Given the description of an element on the screen output the (x, y) to click on. 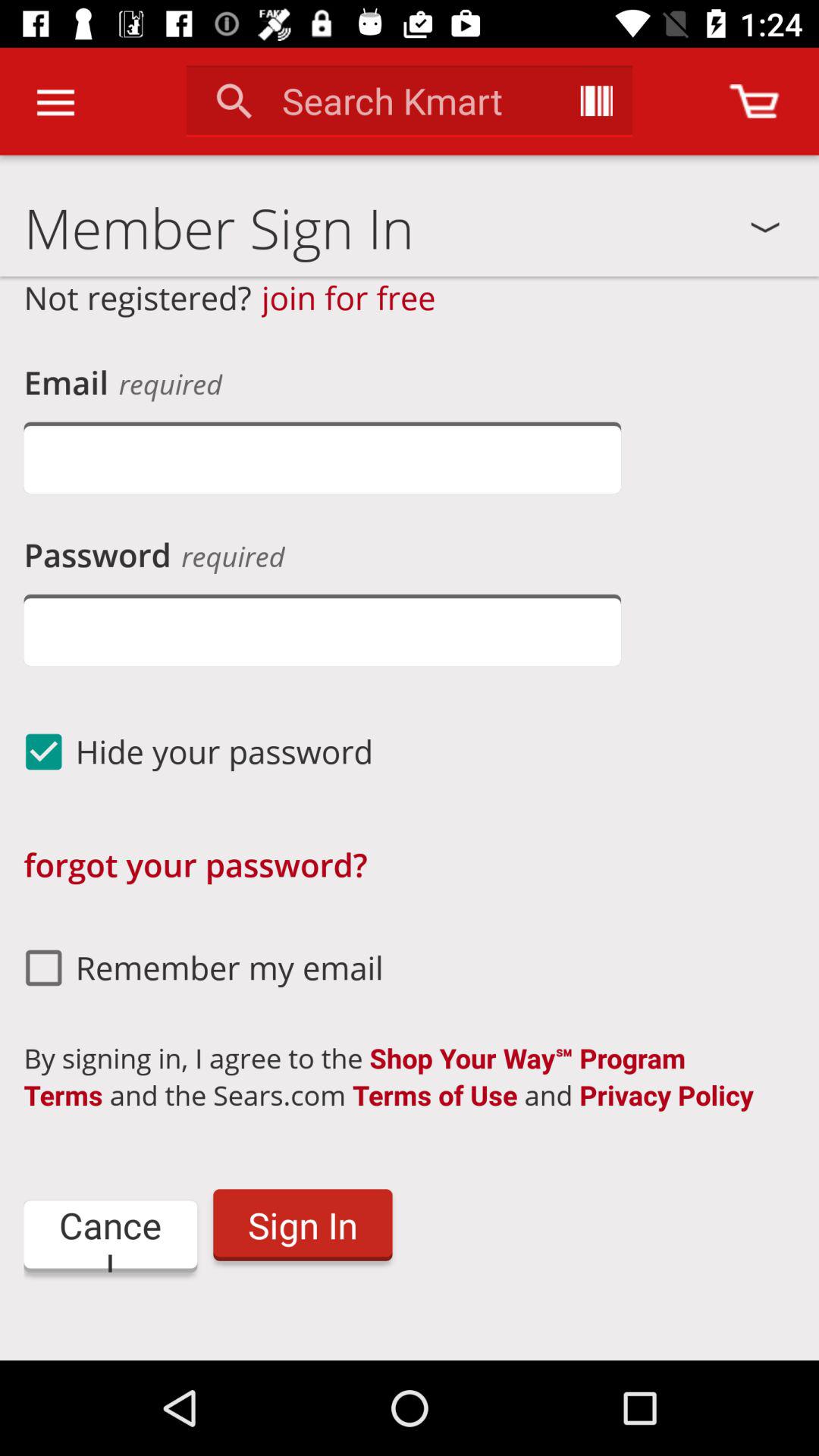
password field (322, 630)
